Given the description of an element on the screen output the (x, y) to click on. 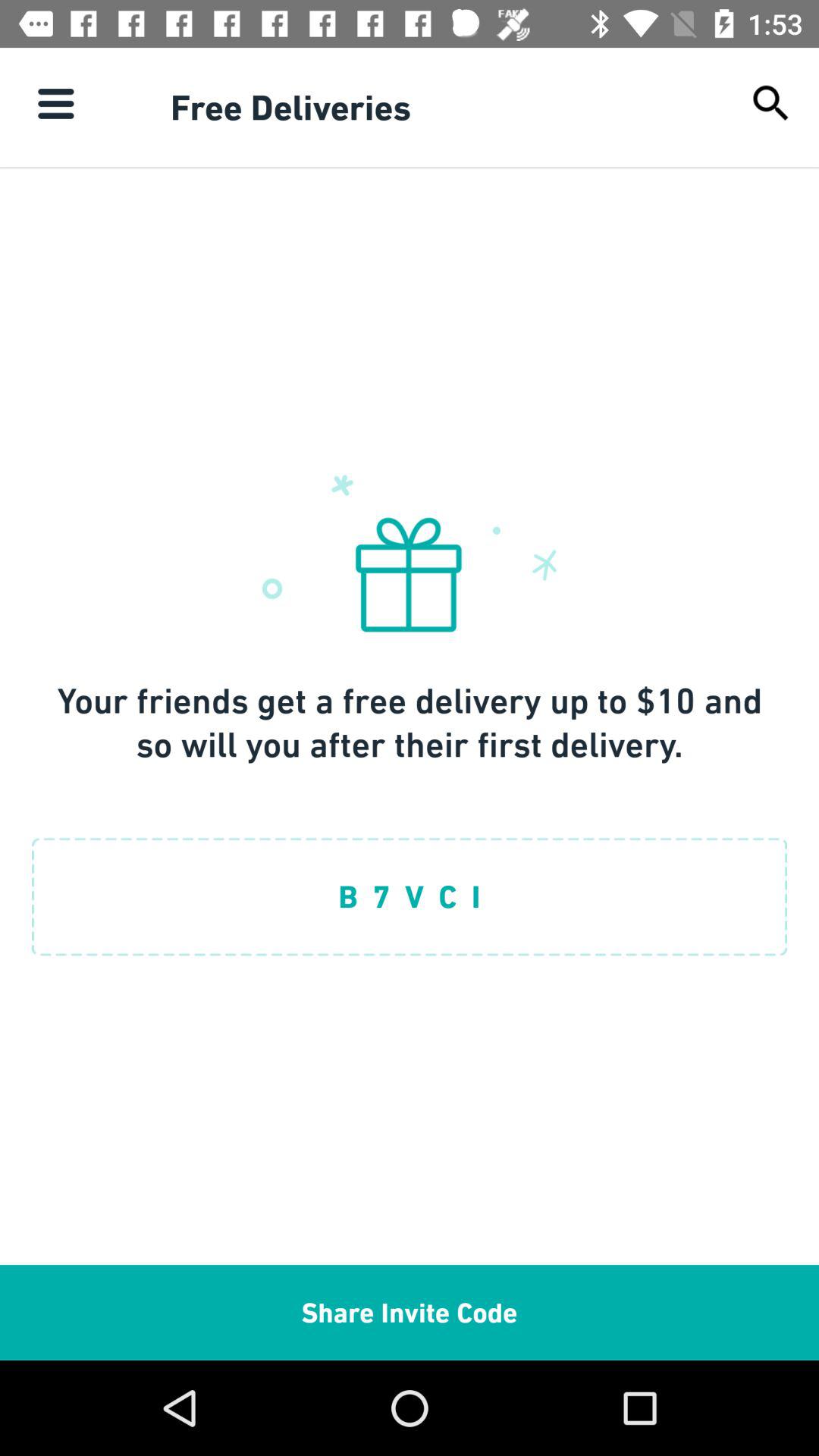
turn on share invite code icon (409, 1312)
